Given the description of an element on the screen output the (x, y) to click on. 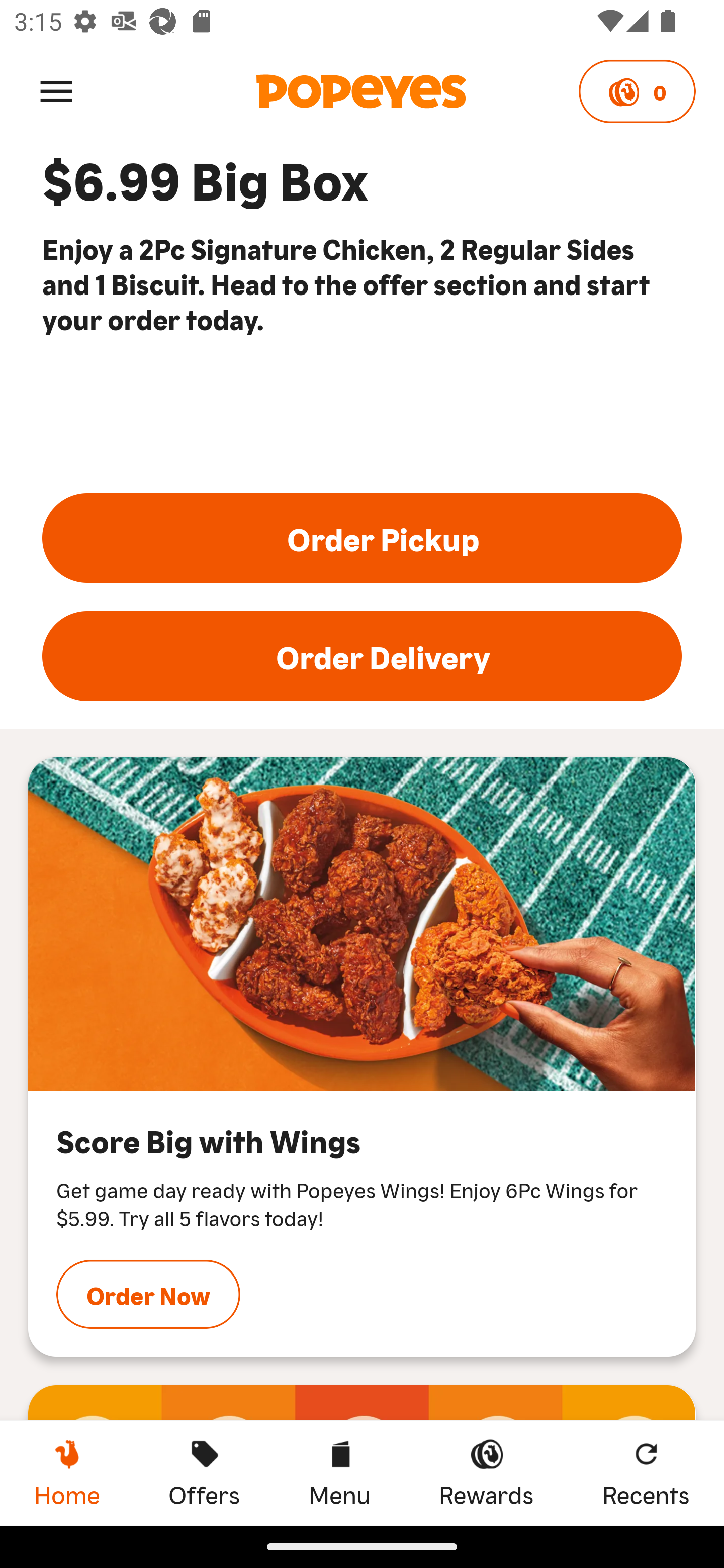
Menu  (56, 90)
0 Points 0 (636, 91)
Order Pickup (361, 537)
Order Delivery (361, 655)
Score Big with Wings (361, 924)
Order Now (148, 1294)
Home, current page Home Home, current page (66, 1472)
Offers Offers Offers (203, 1472)
Menu Menu Menu (339, 1472)
Rewards Rewards Rewards (486, 1472)
Recents Recents Recents (646, 1472)
